Given the description of an element on the screen output the (x, y) to click on. 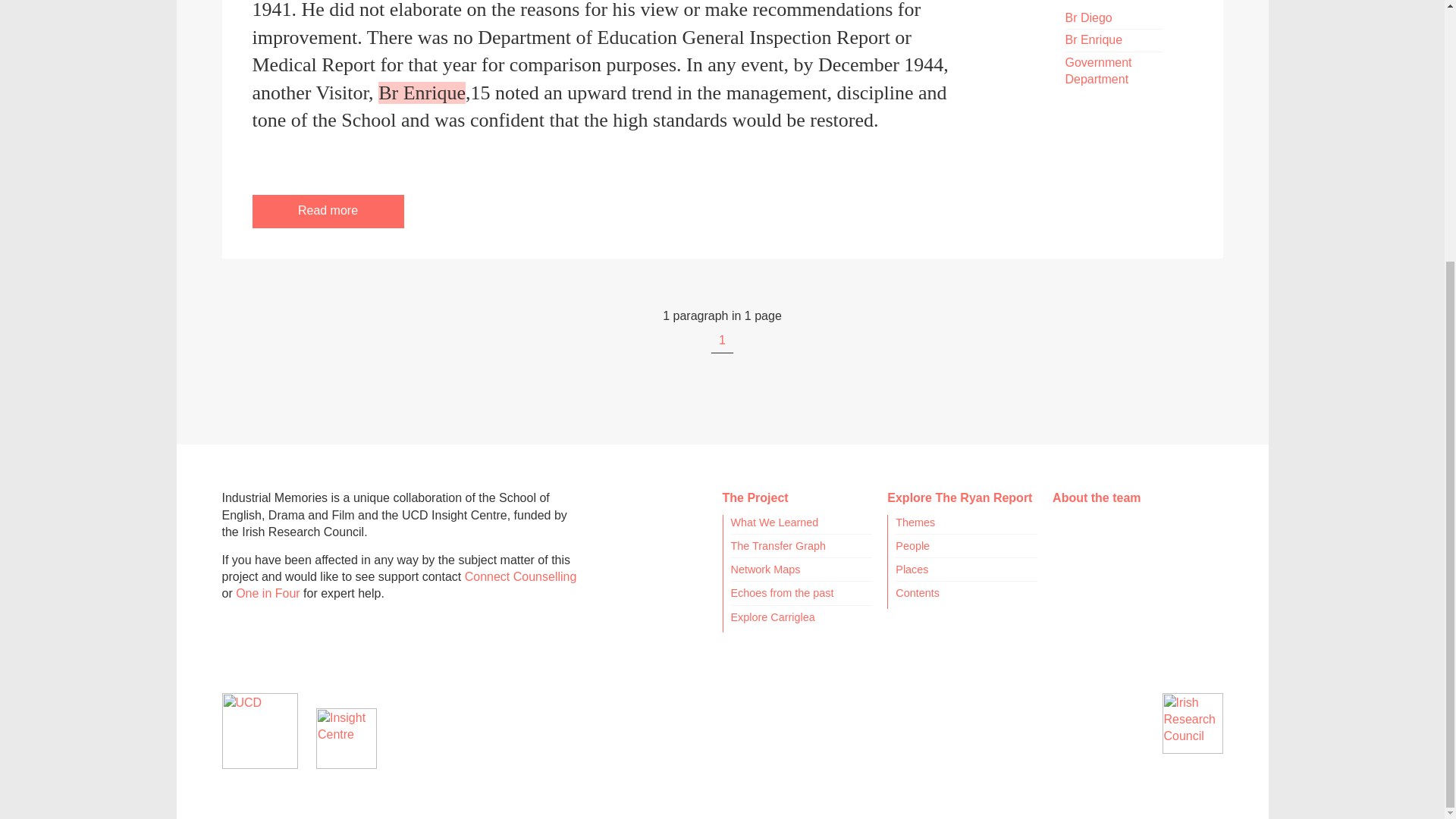
What We Learned (774, 522)
The Project (754, 497)
Themes (914, 522)
Br Diego (1088, 17)
Government Department (1097, 70)
Explore Carriglea (772, 616)
People (912, 545)
Network Maps (765, 569)
Br Enrique (1093, 39)
One in Four (267, 593)
Places (911, 569)
Connect Counselling (520, 576)
Explore The Ryan Report (959, 497)
Echoes from the past (782, 592)
Read more (327, 210)
